Given the description of an element on the screen output the (x, y) to click on. 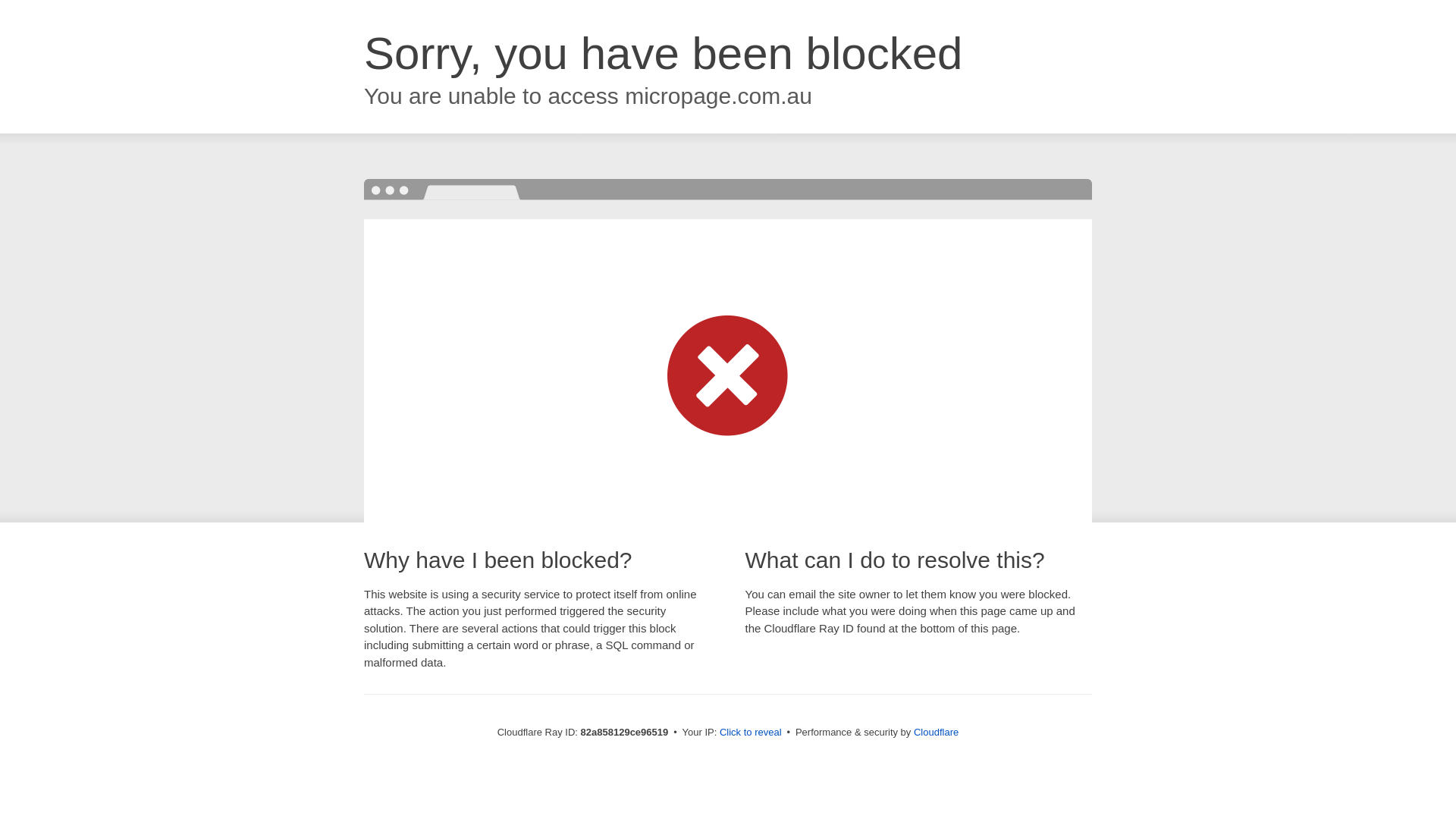
Click to reveal Element type: text (750, 732)
Cloudflare Element type: text (935, 731)
